Given the description of an element on the screen output the (x, y) to click on. 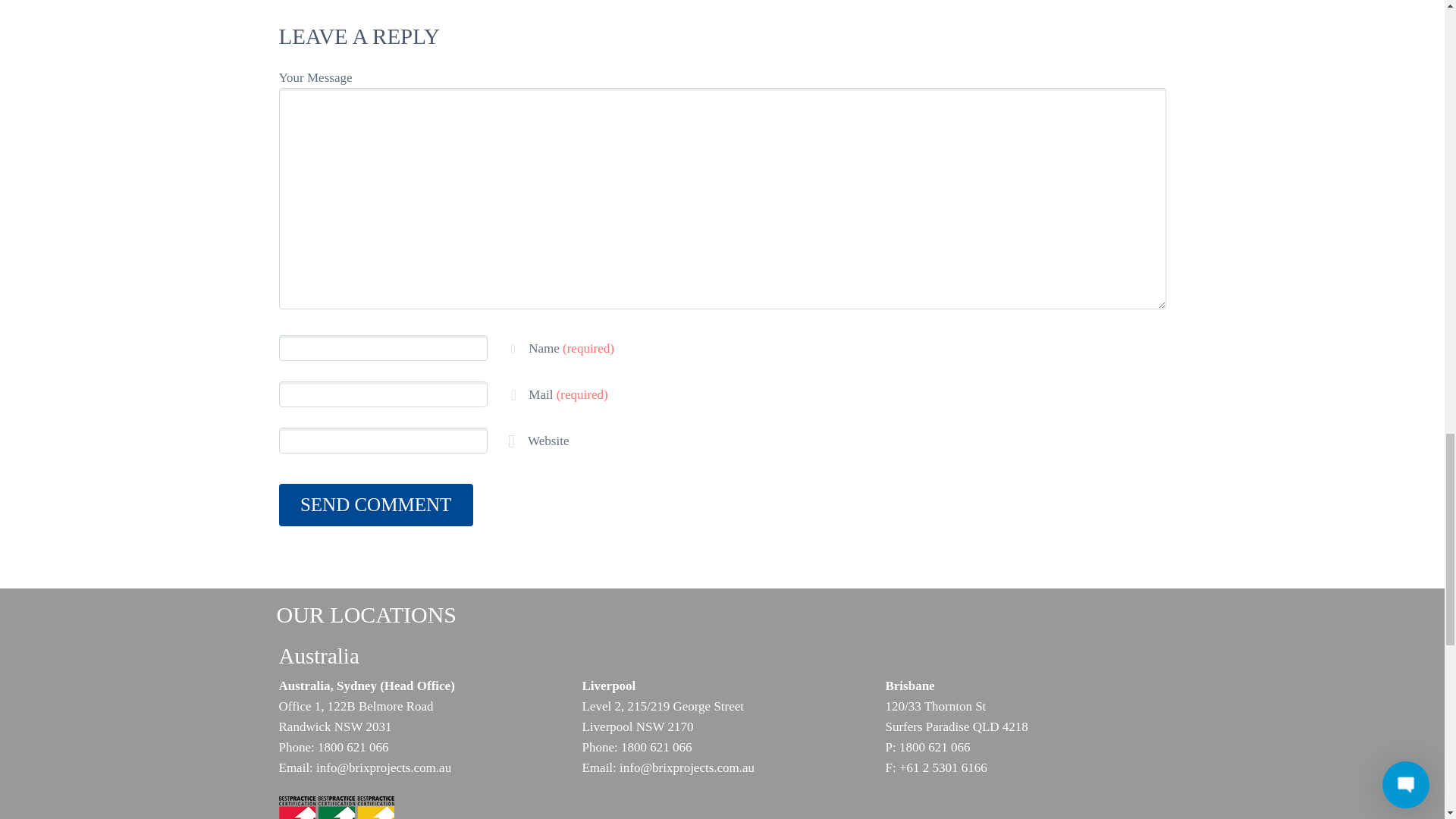
Send Comment (376, 505)
